Given the description of an element on the screen output the (x, y) to click on. 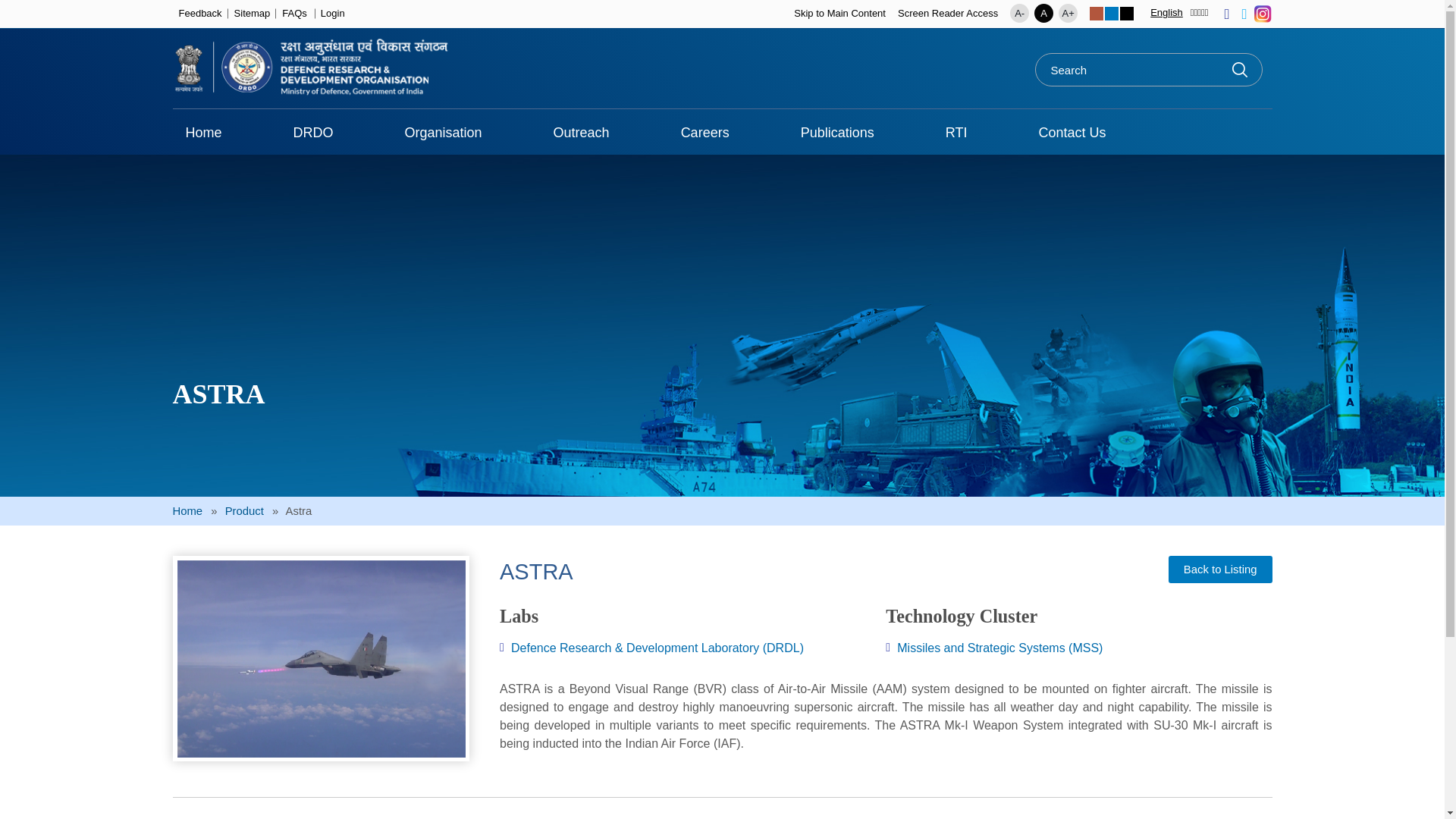
Go (1239, 69)
Normal Font Size (1042, 13)
Sitemap (252, 13)
Screen Reader Access (947, 13)
FAQs (294, 13)
A (1042, 13)
High Contrast View (1126, 13)
Official Account: dpi.drdo (1261, 13)
Home (203, 132)
Standard View (1111, 13)
Salmon Colour (1096, 13)
Organisation (443, 132)
Feedback (200, 13)
High Contrast View (1126, 13)
Login (332, 13)
